Given the description of an element on the screen output the (x, y) to click on. 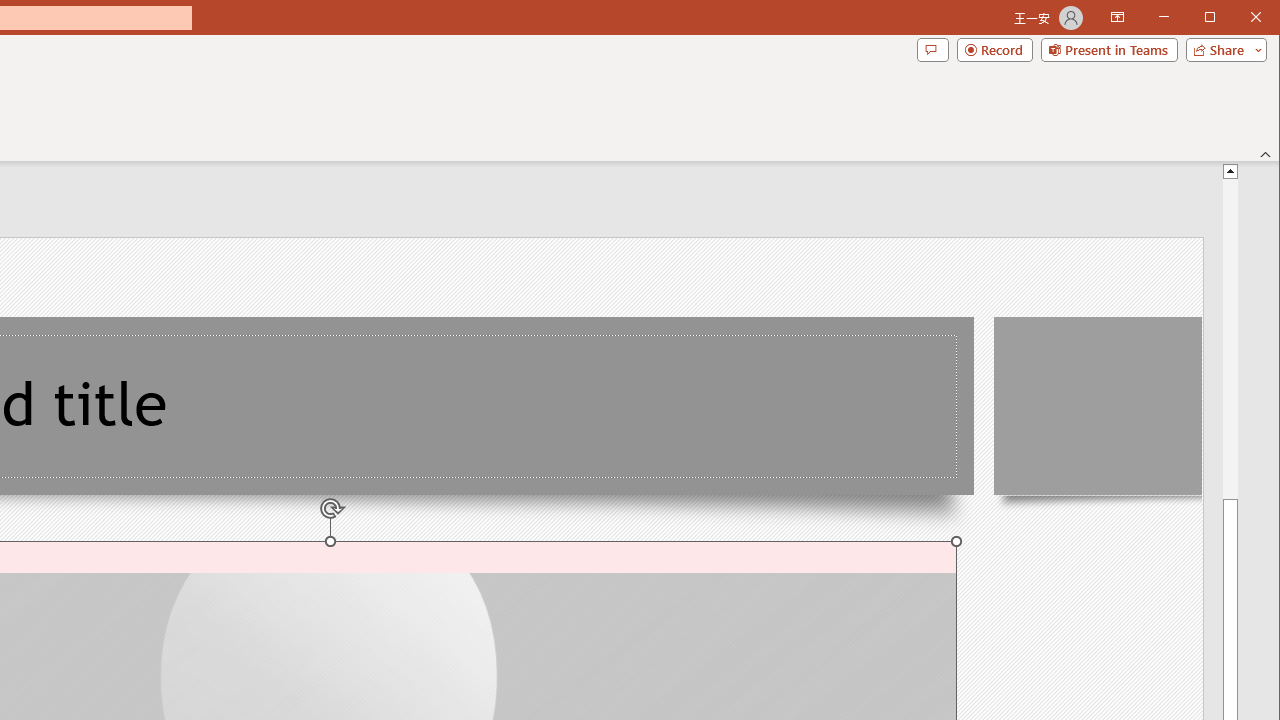
Maximize (1238, 18)
Close (1261, 18)
Share (1222, 49)
Comments (932, 49)
Collapse the Ribbon (1266, 154)
Ribbon Display Options (1117, 17)
Minimize (1216, 18)
Present in Teams (1108, 49)
Page up (1230, 338)
Line up (1230, 170)
